Given the description of an element on the screen output the (x, y) to click on. 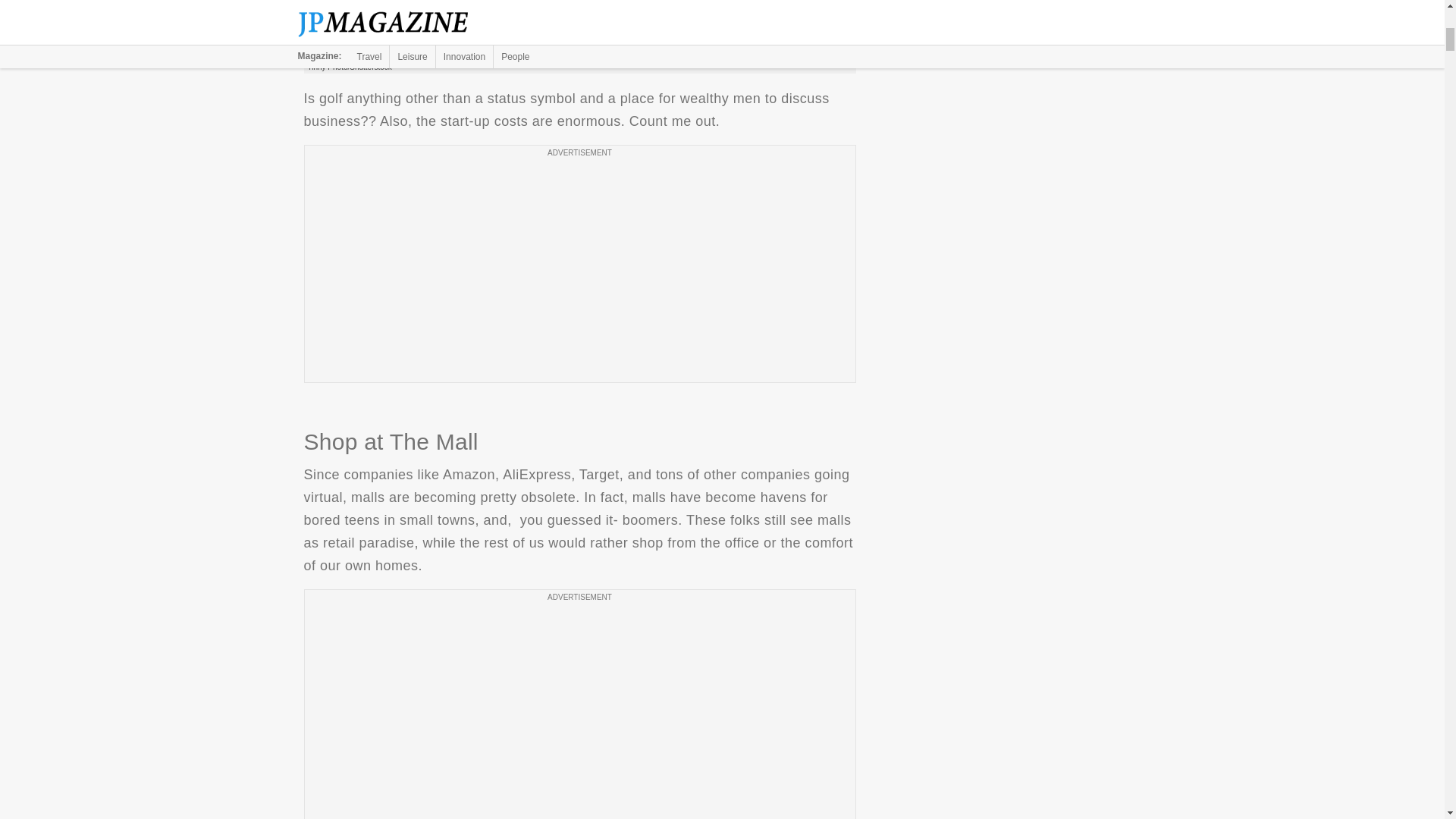
Still Love Golf (579, 30)
